Given the description of an element on the screen output the (x, y) to click on. 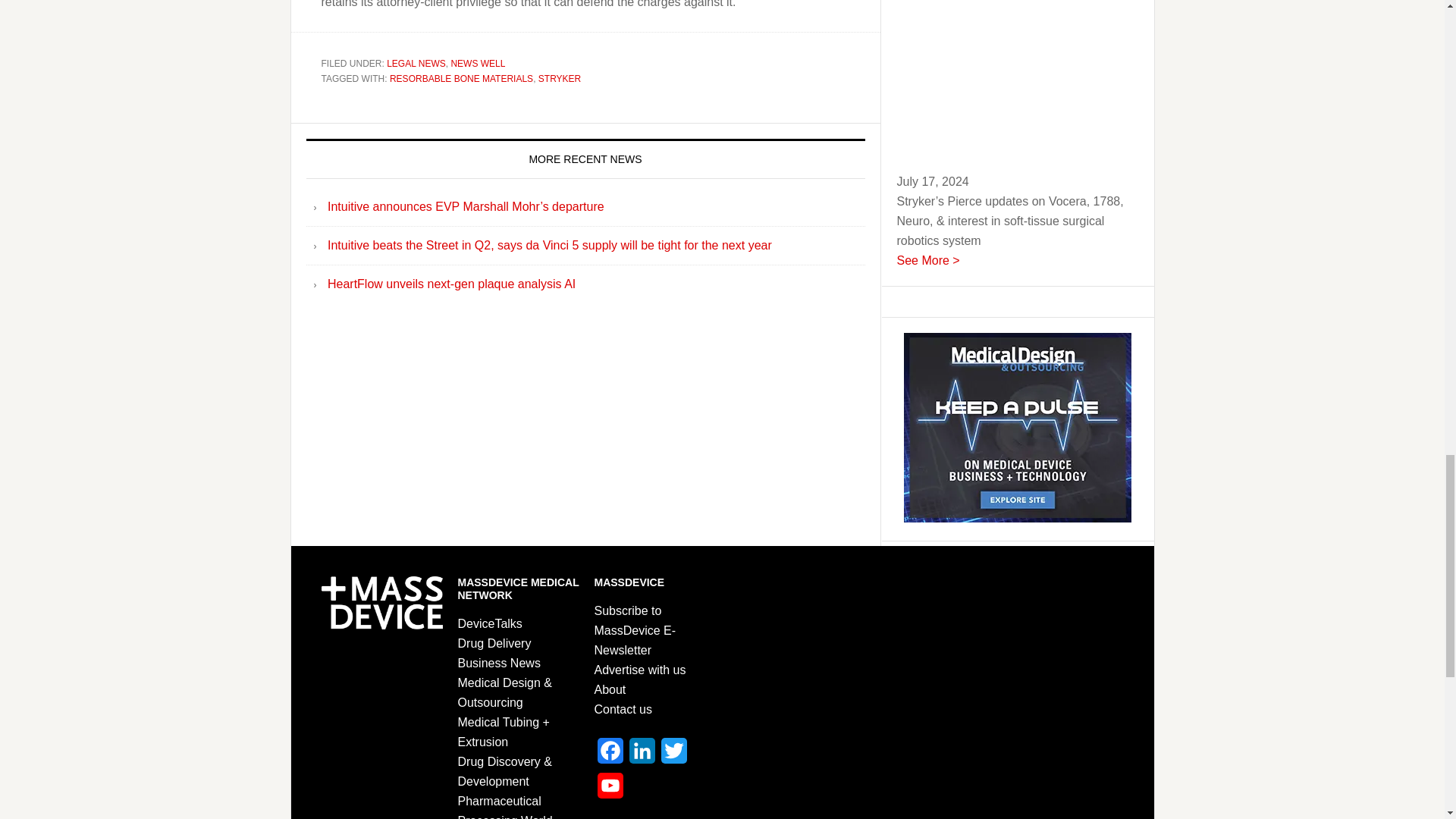
Twitter (674, 755)
Facebook (610, 755)
LinkedIn Company (642, 755)
YouTube Channel (610, 790)
